Given the description of an element on the screen output the (x, y) to click on. 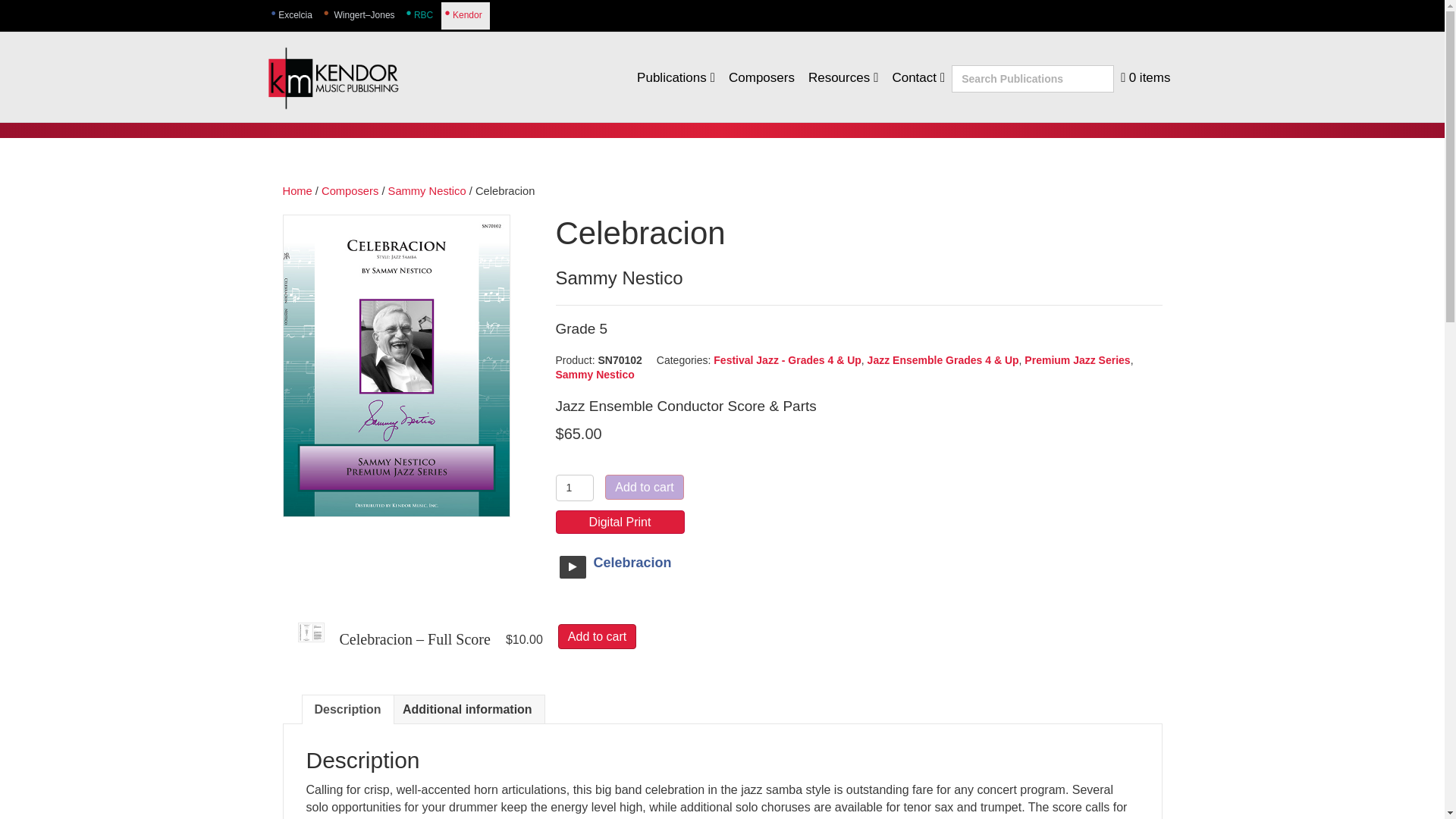
Digital Print (619, 521)
Start shopping (1144, 77)
1 (574, 488)
